Given the description of an element on the screen output the (x, y) to click on. 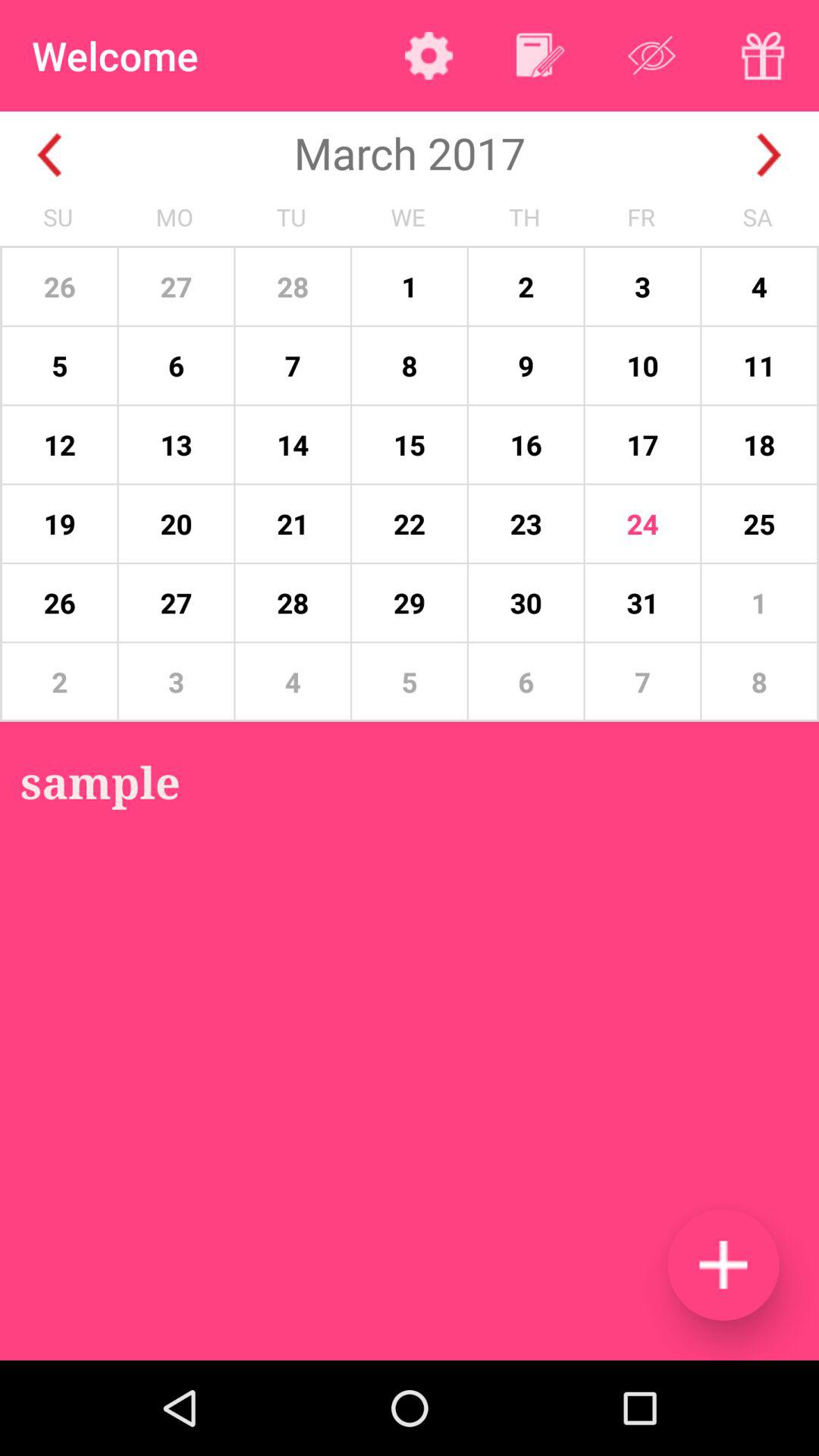
click icon to the right of the welcome app (428, 55)
